Given the description of an element on the screen output the (x, y) to click on. 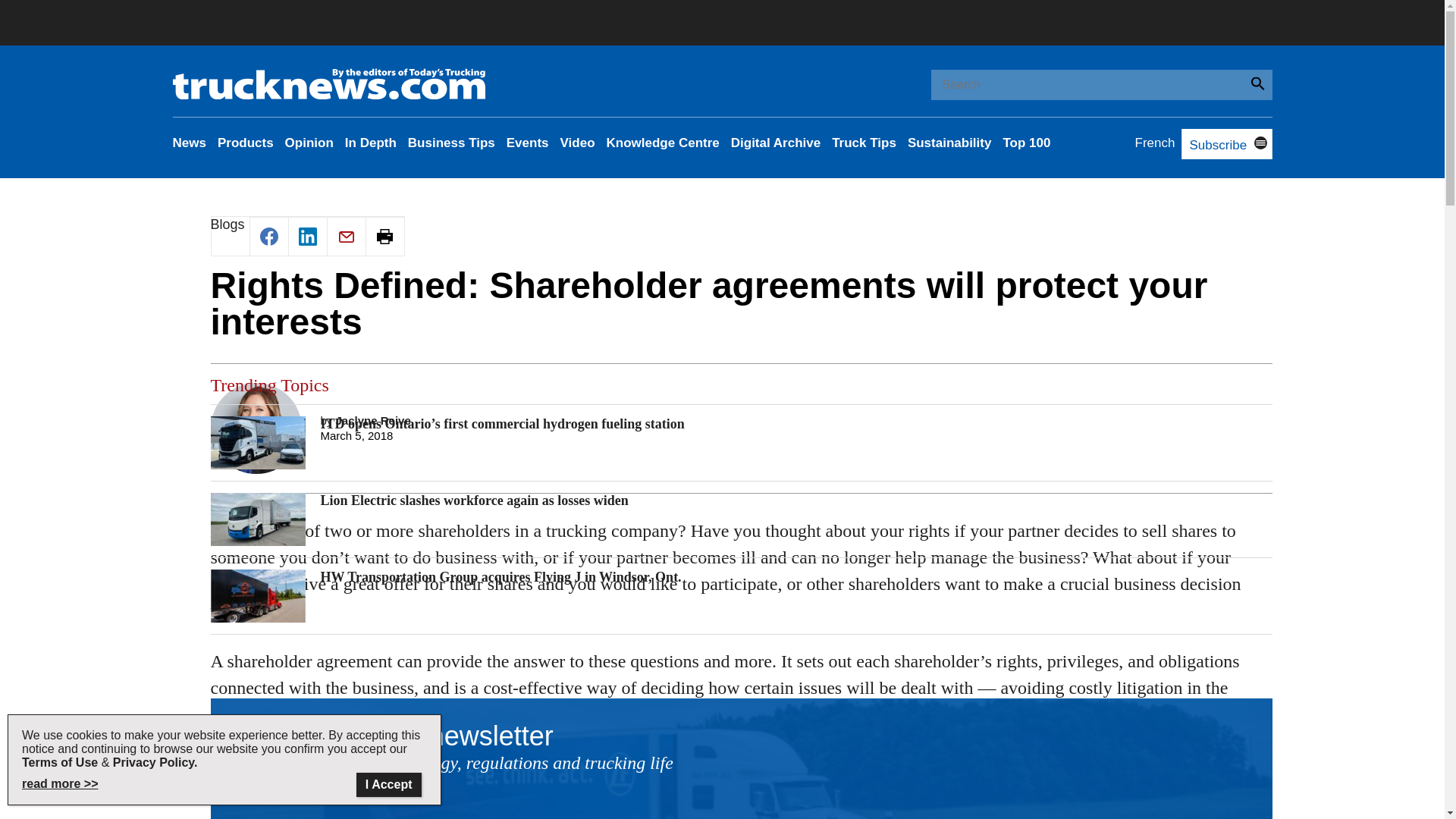
Business Tips (451, 142)
News (189, 142)
Subscribe (1213, 145)
Events (527, 142)
Opinion (309, 142)
Truck Tips (863, 142)
Knowledge Centre (663, 142)
In Depth (370, 142)
Top 100 (1026, 142)
French (1154, 142)
Video (577, 142)
Sustainability (949, 142)
Products (244, 142)
Digital Archive (775, 142)
